Given the description of an element on the screen output the (x, y) to click on. 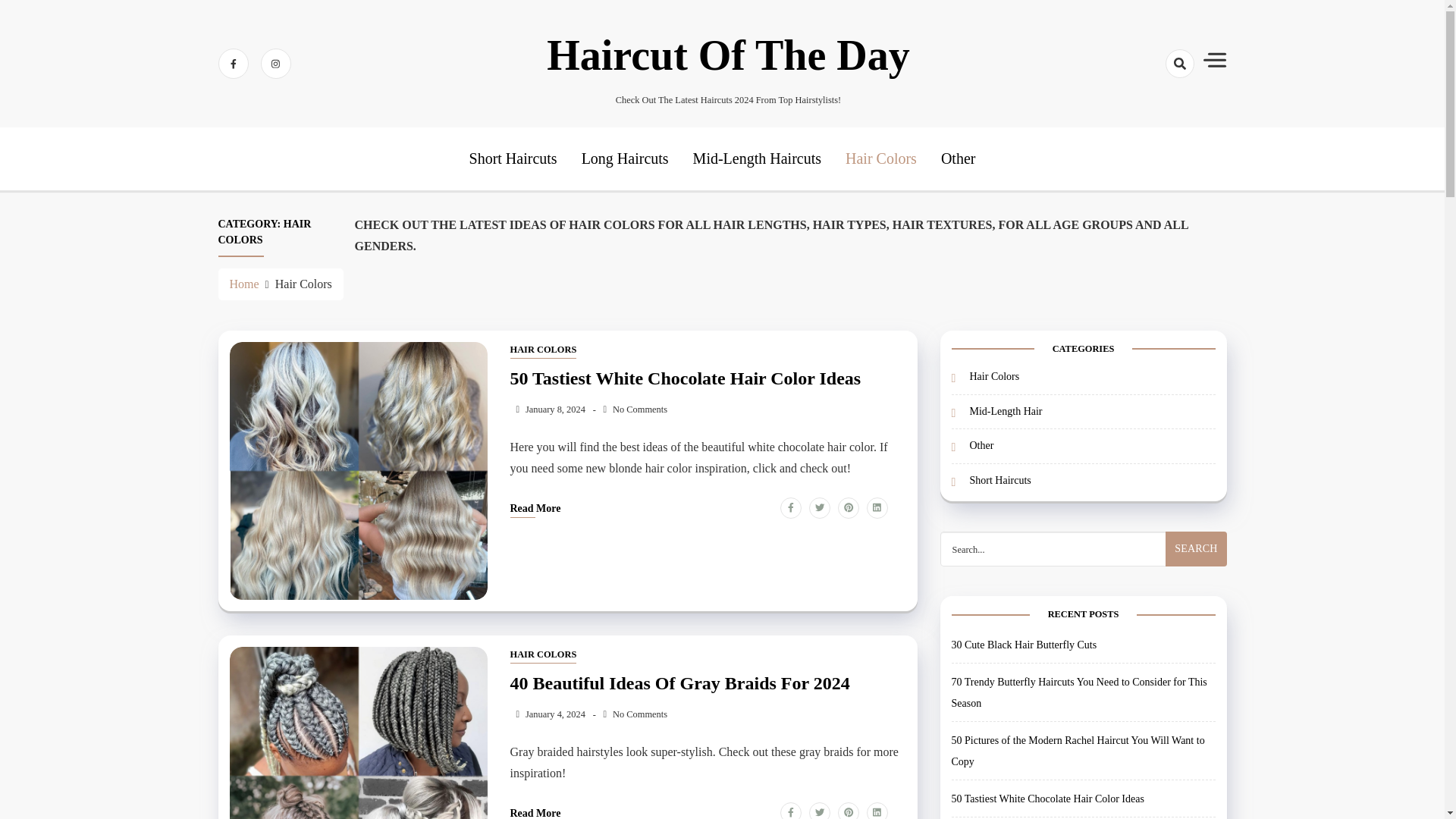
Long Haircuts (624, 158)
Short Haircuts (512, 158)
Read More (534, 509)
Mid-Length Haircuts (757, 158)
January 4, 2024 (547, 714)
Home (243, 283)
No Comments (635, 714)
40 Beautiful Ideas Of Gray Braids For 2024 (707, 684)
Search (1152, 117)
January 8, 2024 (547, 409)
HAIR COLORS (542, 350)
Hair Colors (881, 158)
50 Tastiest White Chocolate Hair Color Ideas (707, 380)
Read More (534, 813)
Search (1195, 548)
